Given the description of an element on the screen output the (x, y) to click on. 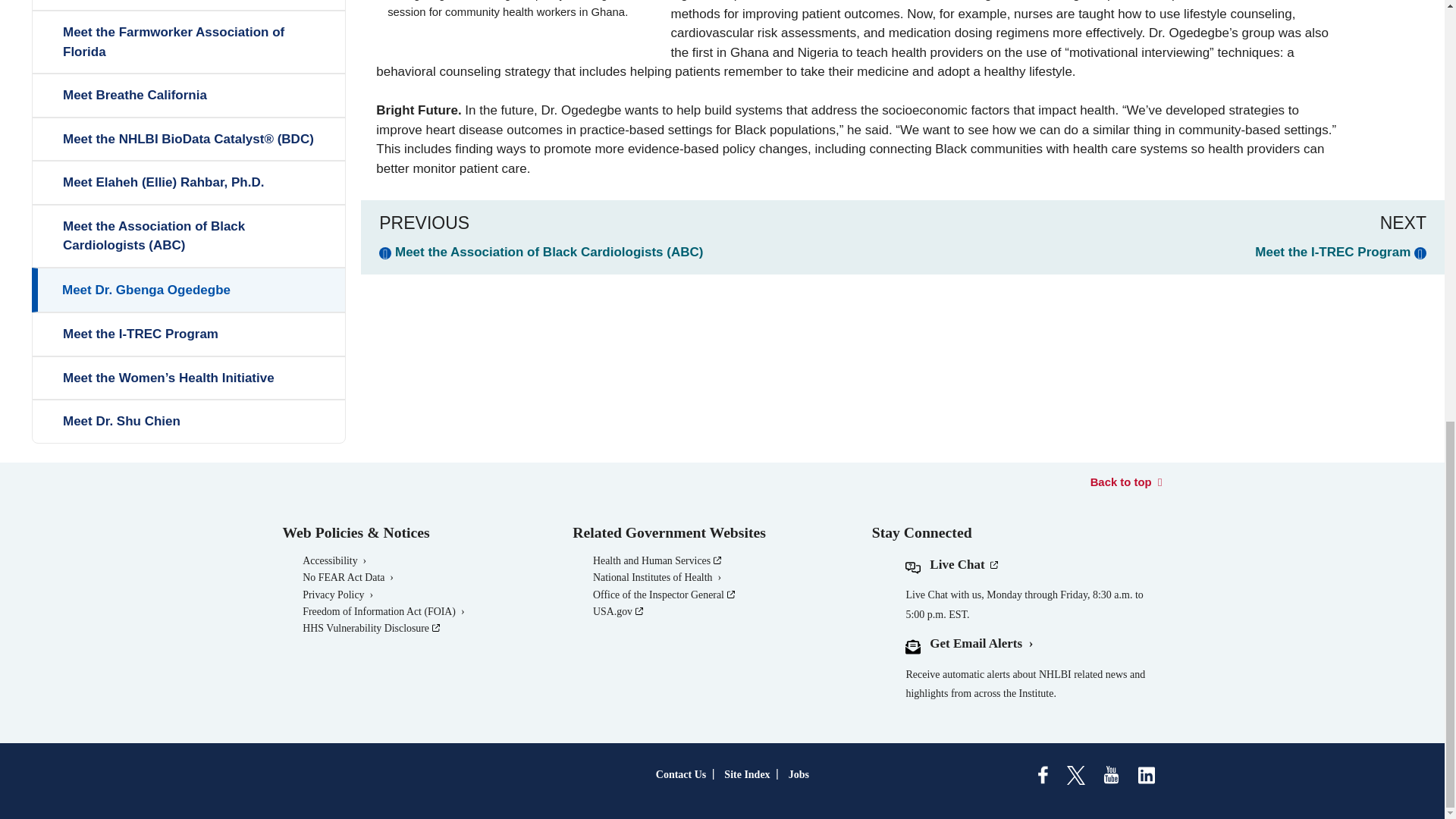
Go to previous page (540, 251)
Go to next page (1340, 251)
